Given the description of an element on the screen output the (x, y) to click on. 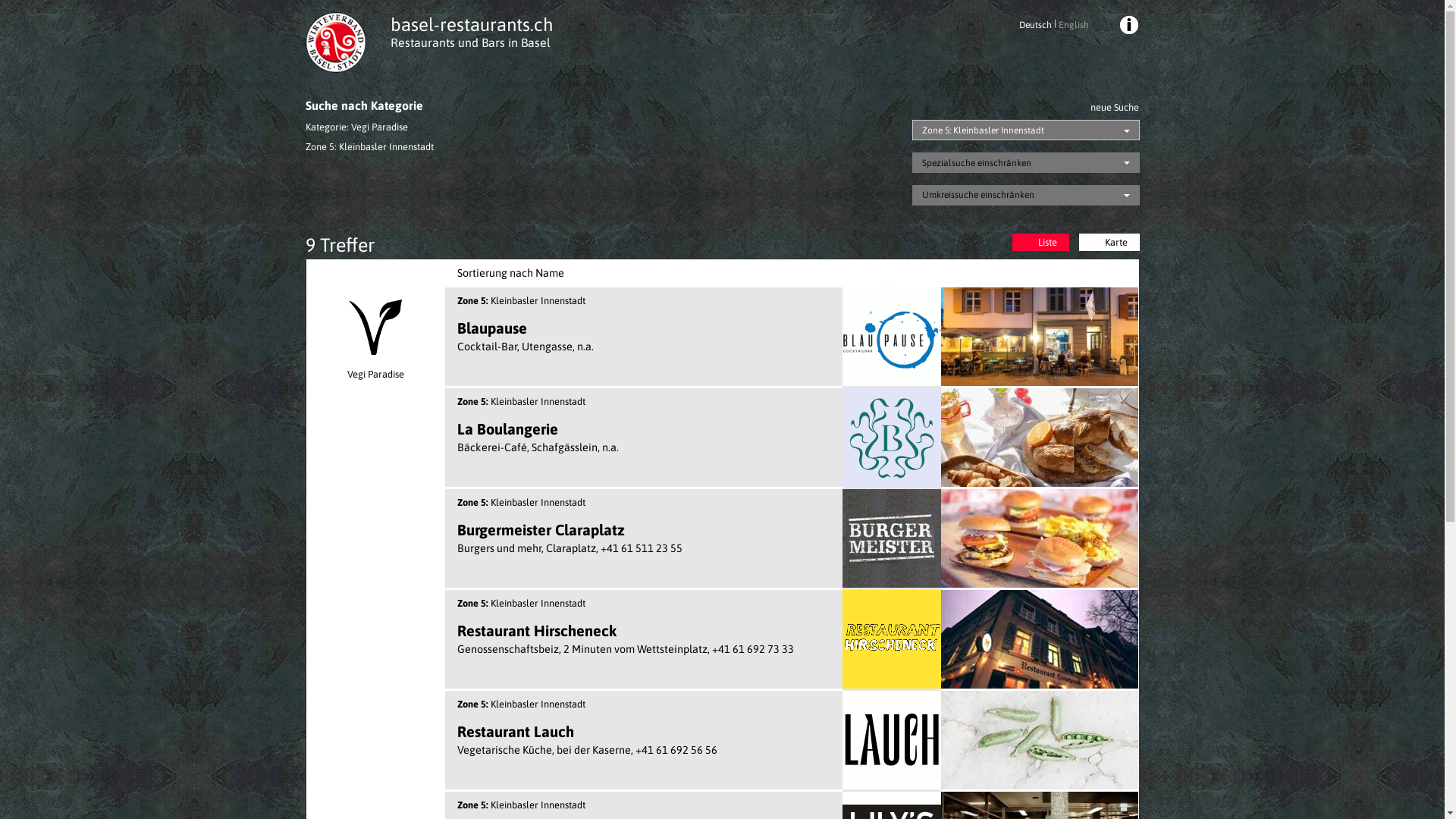
Zone 5: Kleinbasler Innenstadt Element type: text (1025, 129)
basel-restaurants.ch Element type: text (470, 24)
Liste Element type: text (1040, 242)
neue Suche Element type: text (1113, 106)
Deutsch Element type: text (1036, 24)
Karte Element type: text (1109, 242)
Sortierung nach Name Element type: text (509, 273)
Restaurants und Bars in Basel Element type: text (469, 42)
English Element type: text (1072, 24)
